Given the description of an element on the screen output the (x, y) to click on. 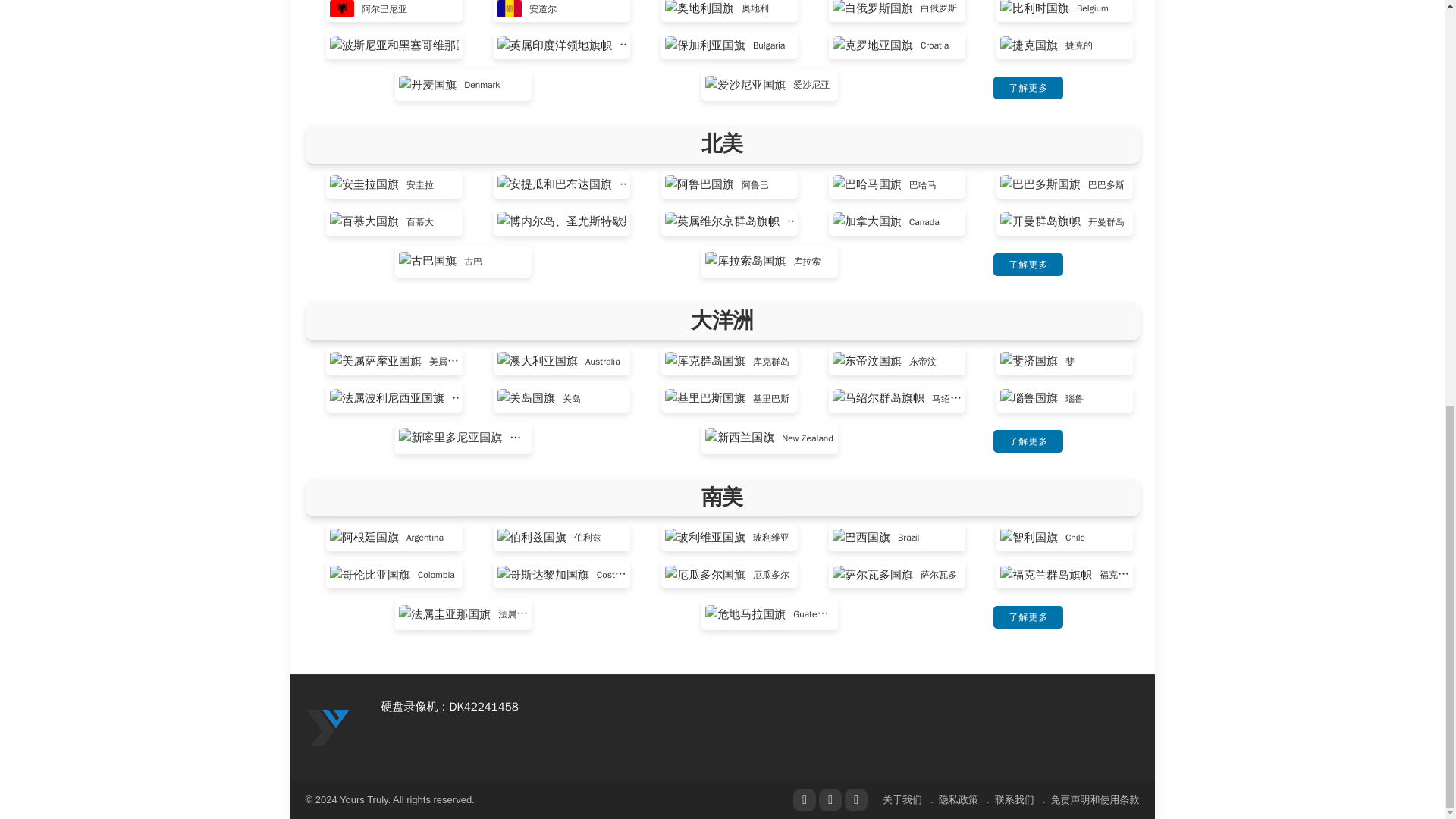
twitter (829, 799)
Facebook (804, 799)
Yours Truly (327, 726)
Instagram (855, 799)
